Given the description of an element on the screen output the (x, y) to click on. 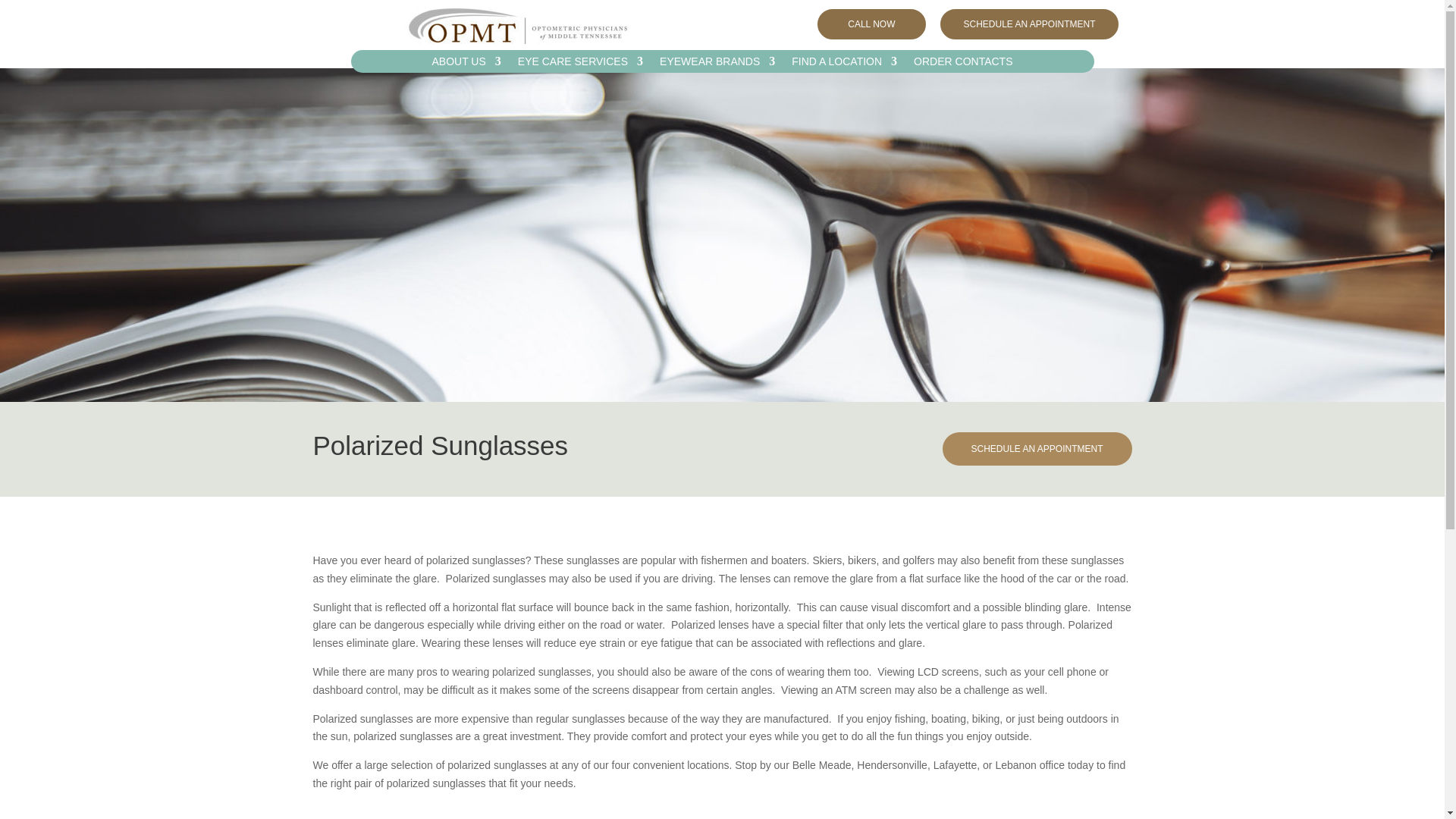
Optometric Physicians of Middle Tennessee Logo (516, 25)
